Given the description of an element on the screen output the (x, y) to click on. 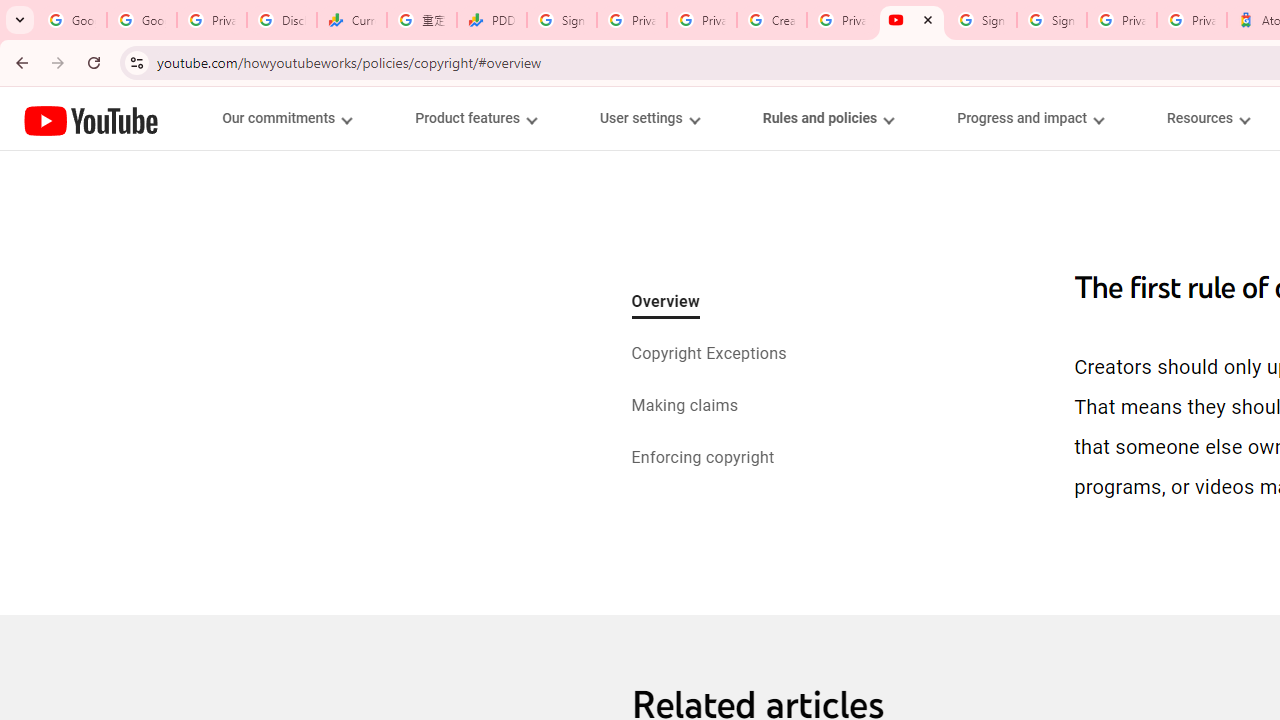
Copyright Exceptions (709, 354)
Progress and impact menupopup (1030, 118)
PDD Holdings Inc - ADR (PDD) Price & News - Google Finance (492, 20)
Resources menupopup (1208, 118)
Enforcing copyright (702, 459)
